Given the description of an element on the screen output the (x, y) to click on. 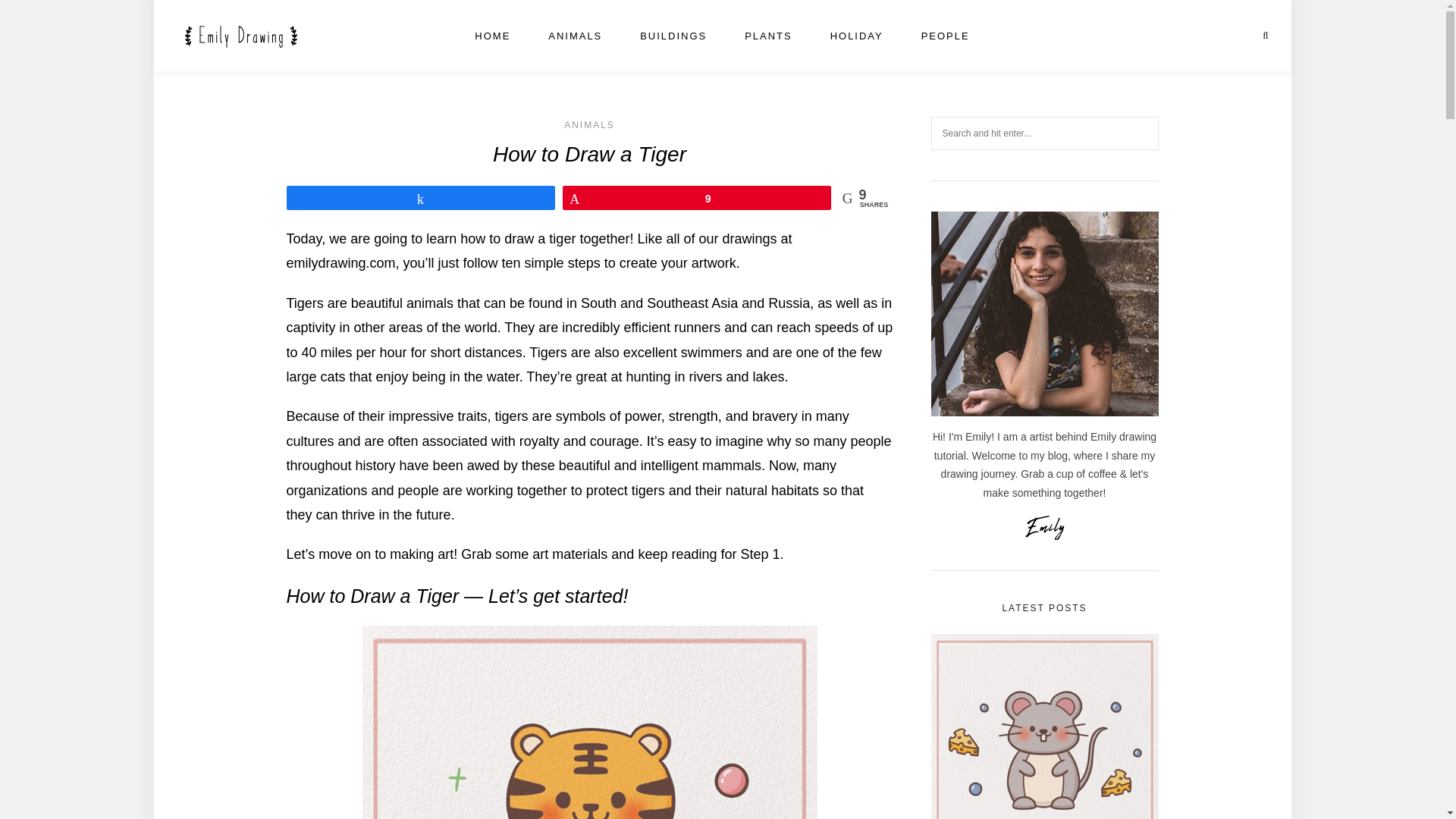
9 (696, 197)
BUILDINGS (673, 36)
ANIMALS (589, 124)
